Given the description of an element on the screen output the (x, y) to click on. 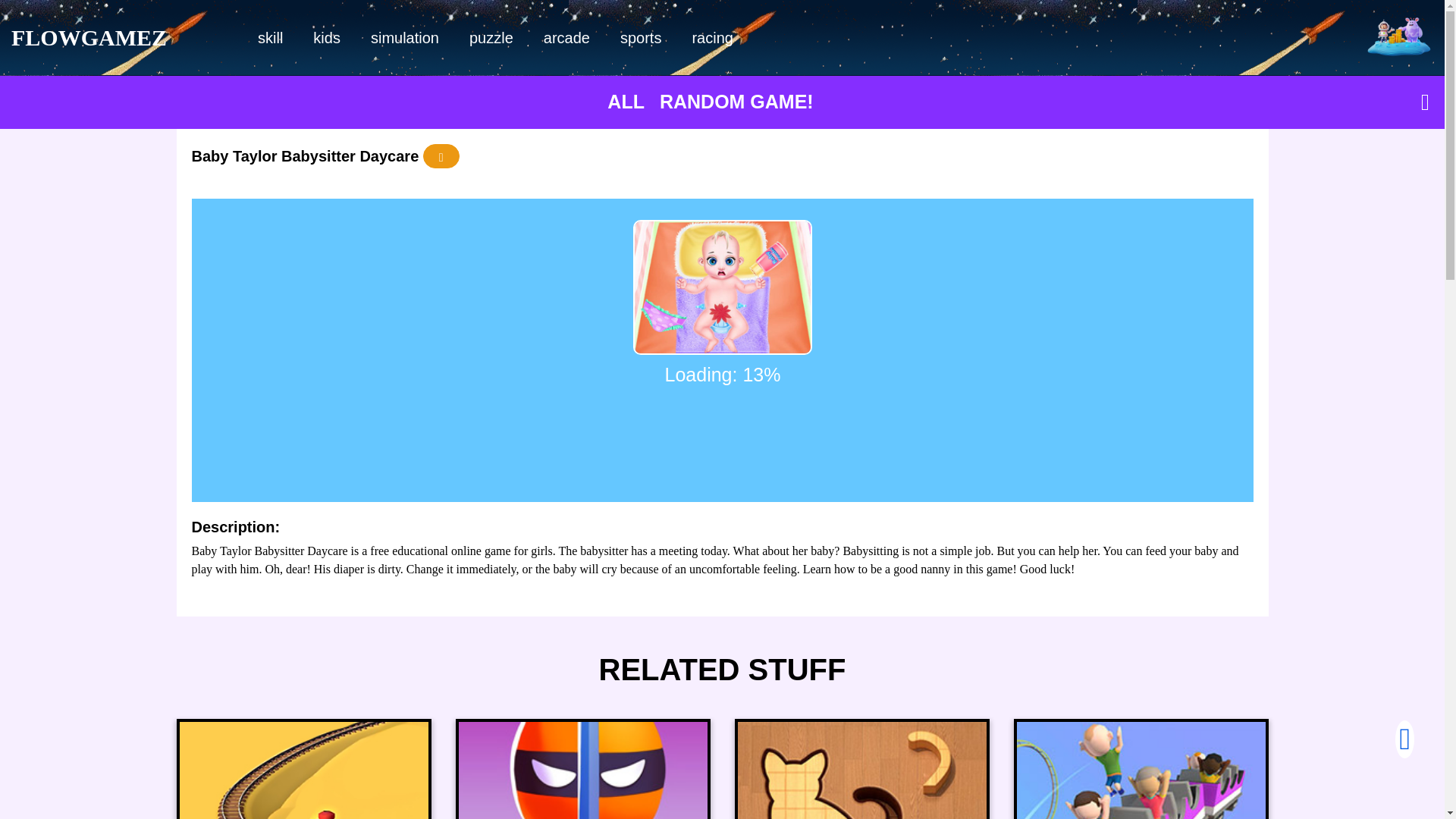
puzzle (491, 38)
THEME PARK RUSH (1140, 770)
racing (712, 38)
FLOWGAMEZ (89, 38)
ANIMAL SHAPE PUZZLE (860, 770)
sports (641, 38)
simulation (404, 38)
RANDOM GAME! (736, 101)
OFF THE RAILS 3D (303, 770)
ALL (626, 101)
STEALTH MASTER 3D (582, 770)
arcade (566, 38)
